Given the description of an element on the screen output the (x, y) to click on. 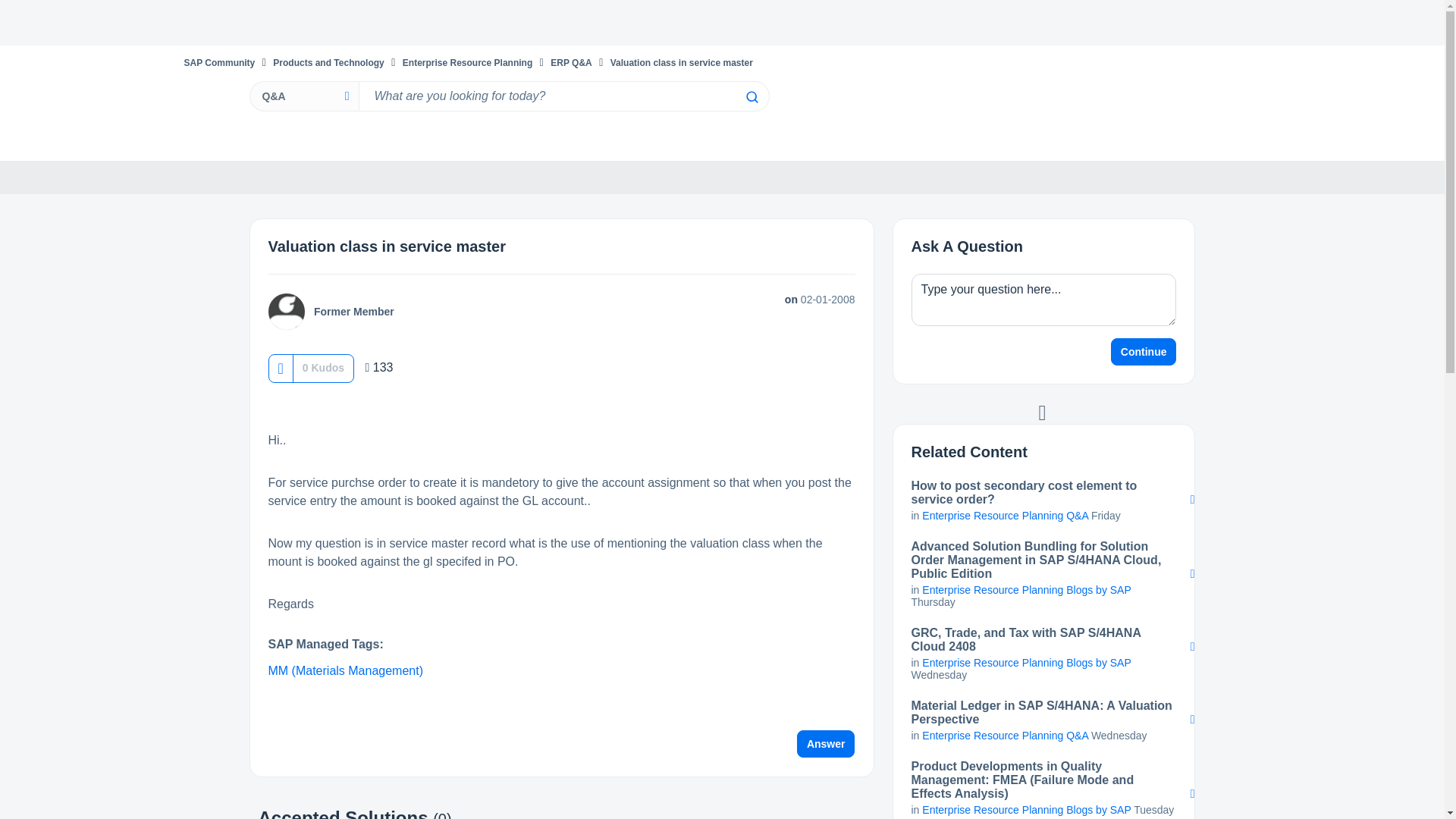
Answer (826, 743)
Search (750, 96)
Continue (1143, 351)
Products and Technology (328, 62)
Click here to give kudos to this post. (279, 367)
How to post secondary cost element to service order? (1043, 492)
Search (563, 96)
The total number of kudos this post has received. (323, 367)
Search (750, 96)
Continue (1143, 351)
Search (750, 96)
Search Granularity (303, 96)
Enterprise Resource Planning (467, 62)
SAP Community (218, 62)
